Given the description of an element on the screen output the (x, y) to click on. 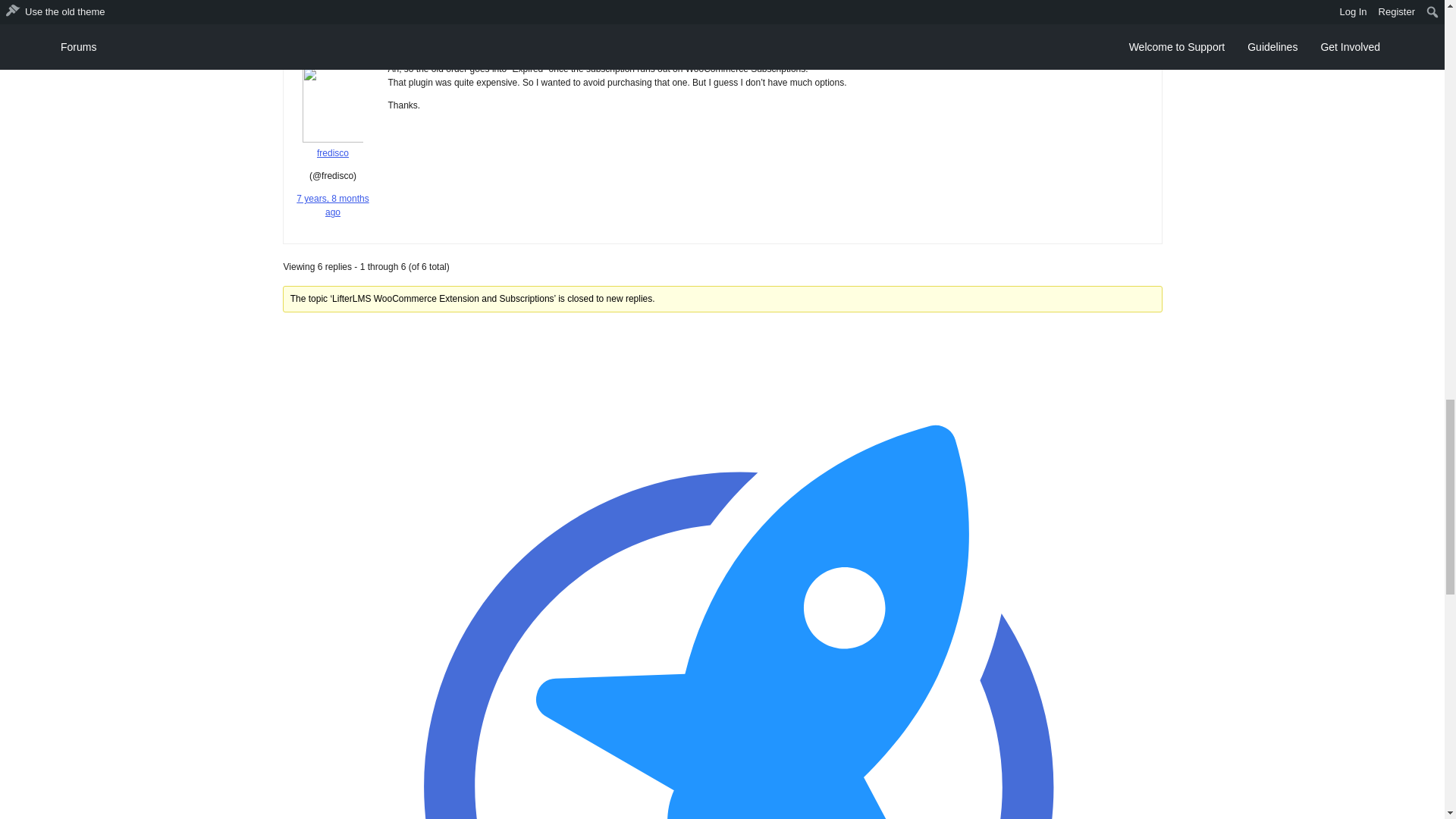
This person created the thread (331, 50)
View fredisco's profile (333, 146)
November 24, 2016 at 1:04 am (332, 6)
